Given the description of an element on the screen output the (x, y) to click on. 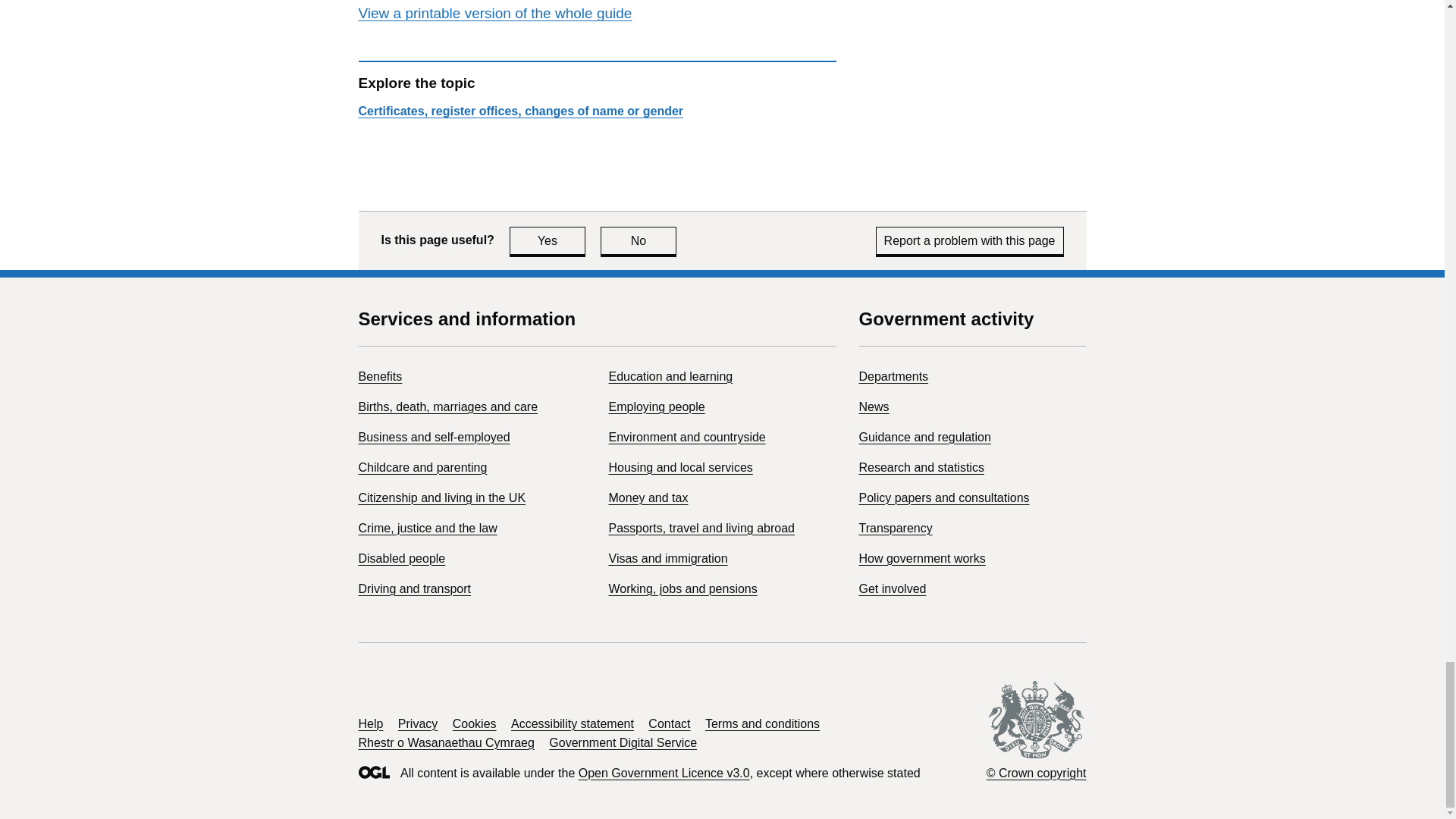
View a printable version of the whole guide (494, 12)
Certificates, register offices, changes of name or gender (520, 110)
